Given the description of an element on the screen output the (x, y) to click on. 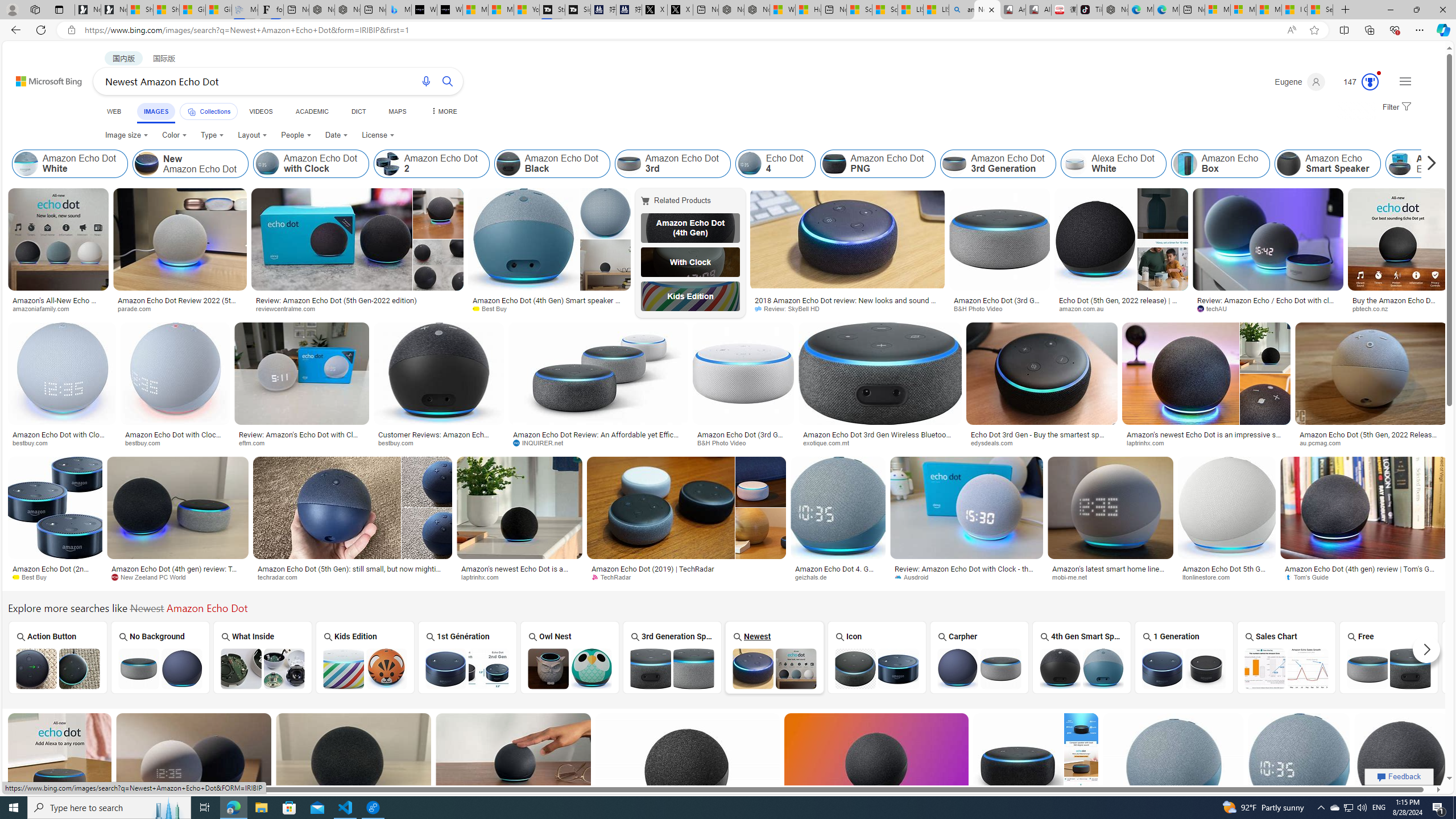
TechRadar (686, 576)
License (378, 135)
Amazon Echo Dot Sales Chart (1285, 668)
Settings and quick links (1404, 80)
Echo Dot Kids Edition (689, 296)
B&H Photo Video (743, 442)
